Given the description of an element on the screen output the (x, y) to click on. 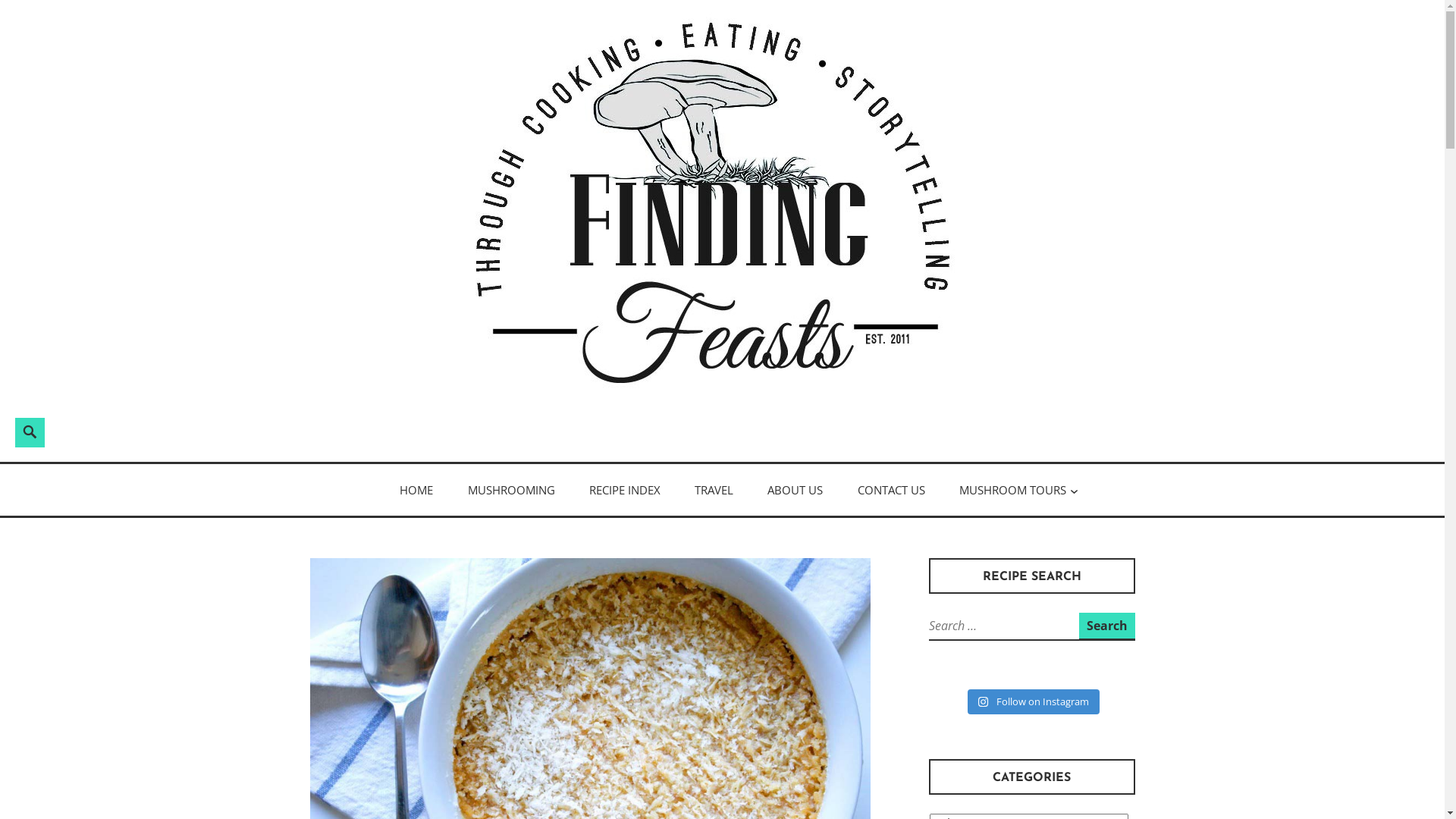
Follow on Instagram Element type: text (1032, 702)
MUSHROOMING Element type: text (511, 489)
RECIPE INDEX Element type: text (624, 489)
TRAVEL Element type: text (713, 489)
CONTACT US Element type: text (891, 489)
MUSHROOM TOURS Element type: text (1012, 489)
Search Element type: text (236, 429)
HOME Element type: text (416, 489)
FINDING FEASTS Element type: text (461, 473)
Search Element type: text (1106, 625)
Search Element type: text (18, 417)
ABOUT US Element type: text (794, 489)
